Given the description of an element on the screen output the (x, y) to click on. 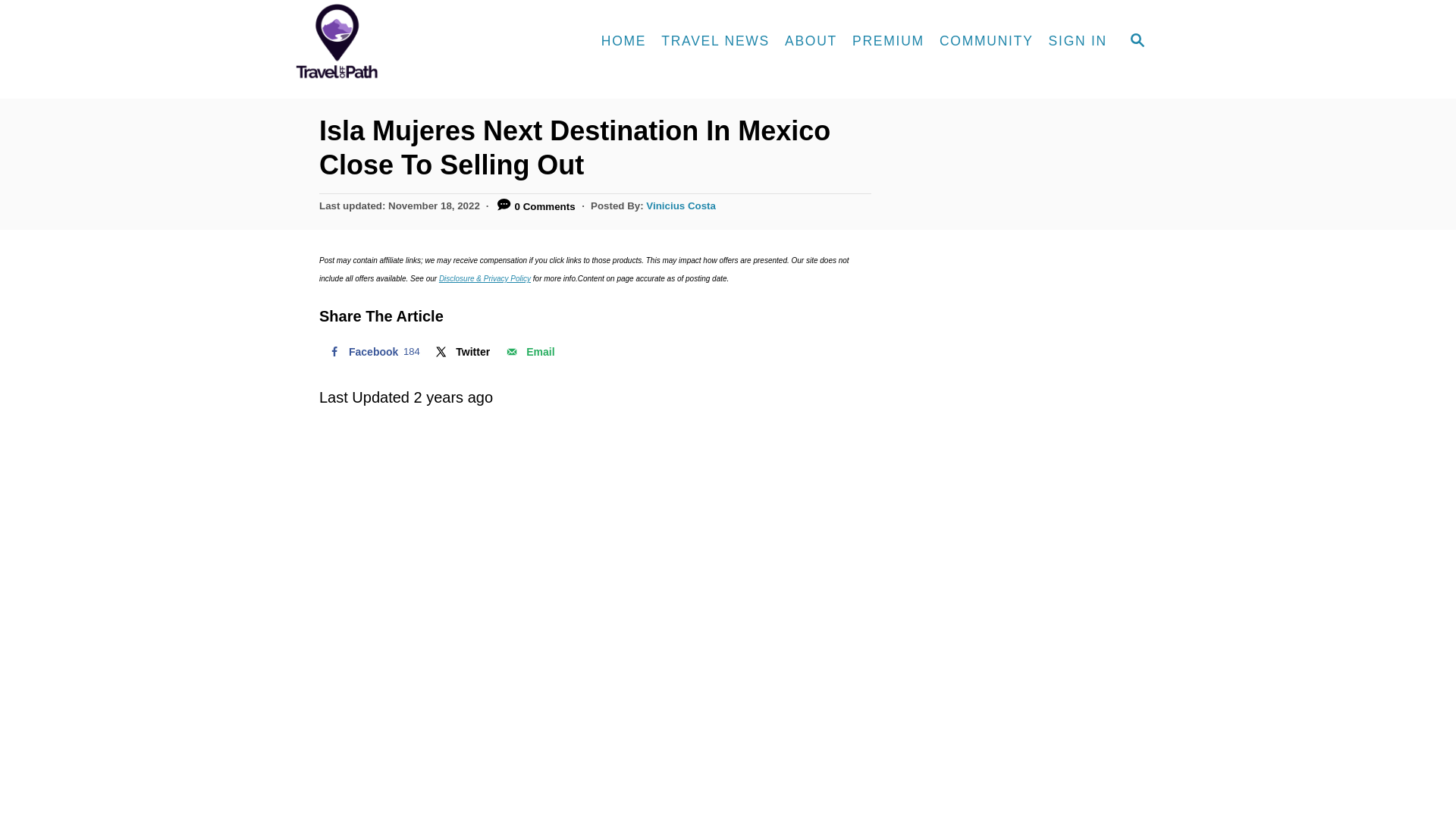
TRAVEL NEWS (715, 41)
PREMIUM (887, 41)
Twitter (461, 351)
Send over email (528, 351)
COMMUNITY (986, 41)
Vinicius Costa (681, 205)
HOME (623, 41)
ABOUT (810, 41)
Travel Off Path (424, 41)
SIGN IN (1078, 41)
Email (372, 351)
Share on Facebook (528, 351)
SEARCH (372, 351)
Share on X (1137, 40)
